Given the description of an element on the screen output the (x, y) to click on. 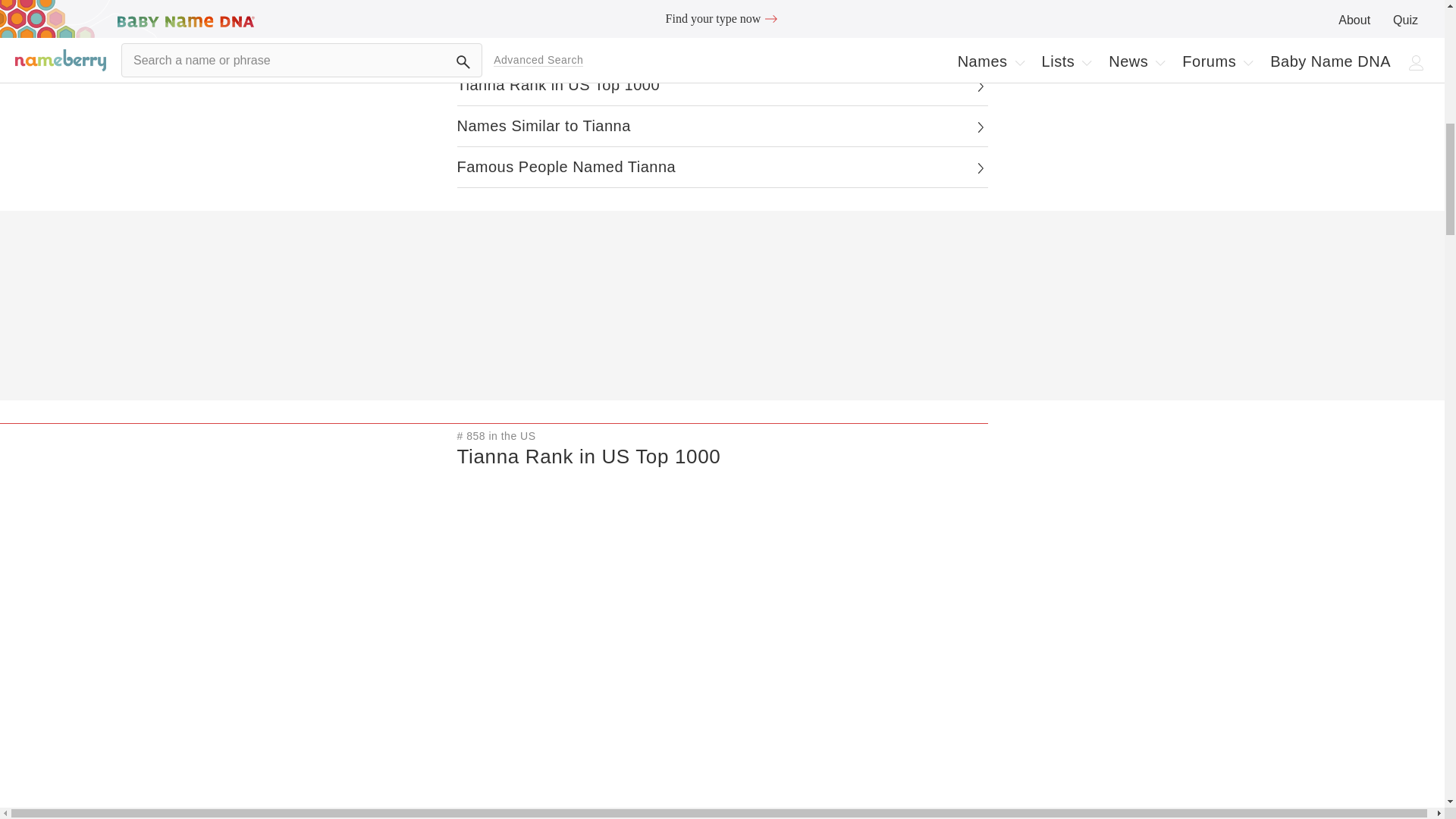
Chevron - Right (979, 127)
Chevron - Right (979, 86)
Chevron - Right (979, 168)
